Given the description of an element on the screen output the (x, y) to click on. 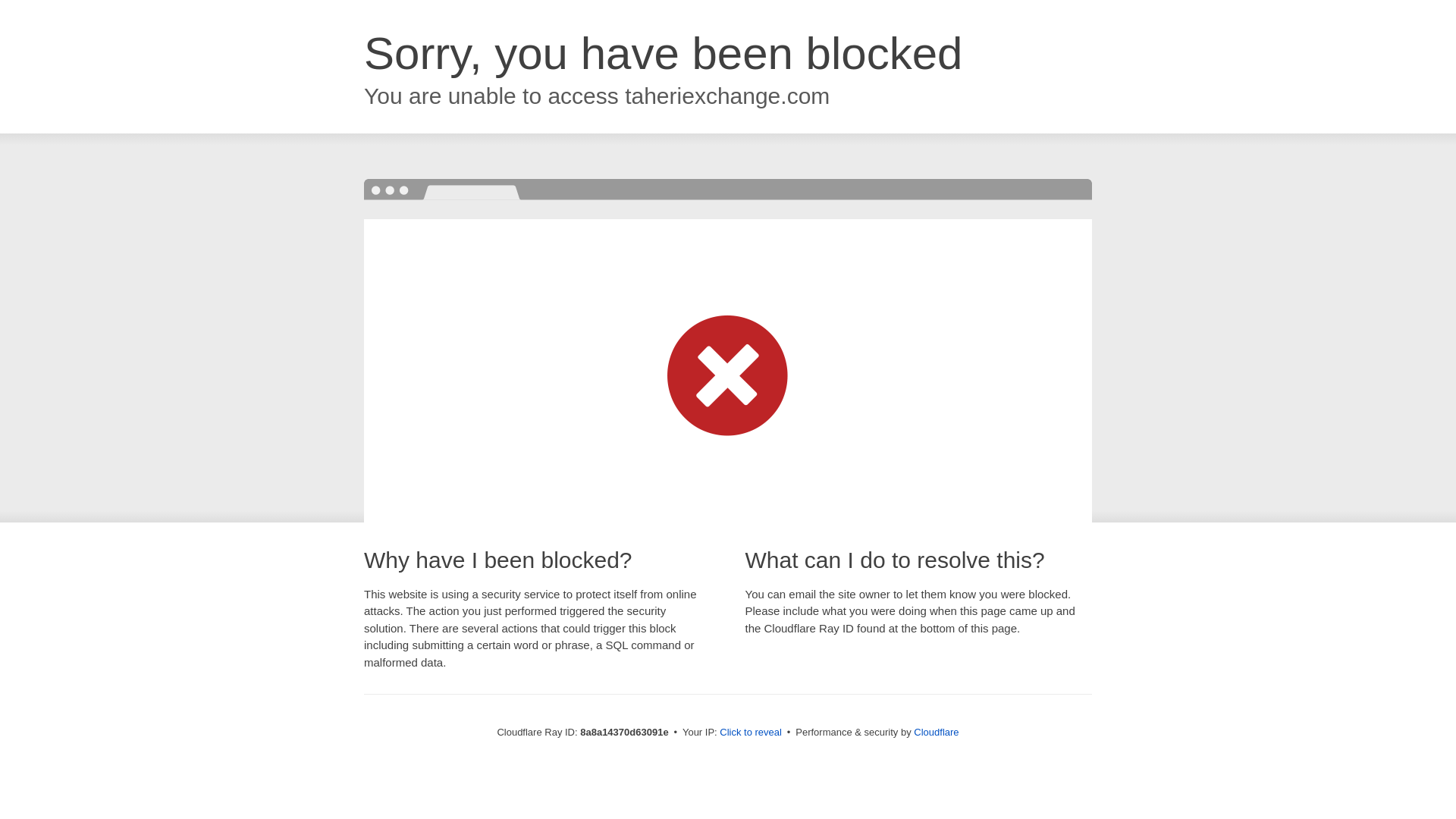
Cloudflare (936, 731)
Click to reveal (750, 732)
